Given the description of an element on the screen output the (x, y) to click on. 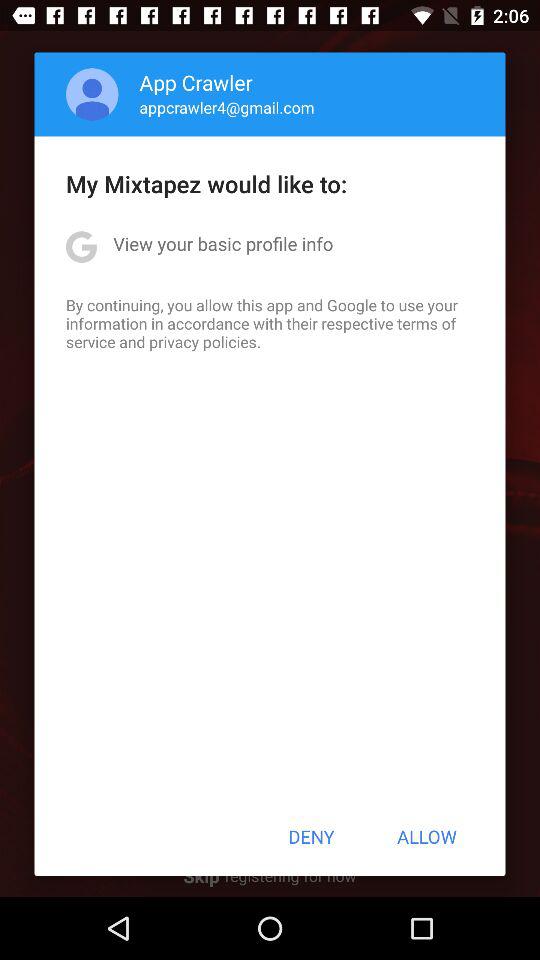
select view your basic item (223, 243)
